Given the description of an element on the screen output the (x, y) to click on. 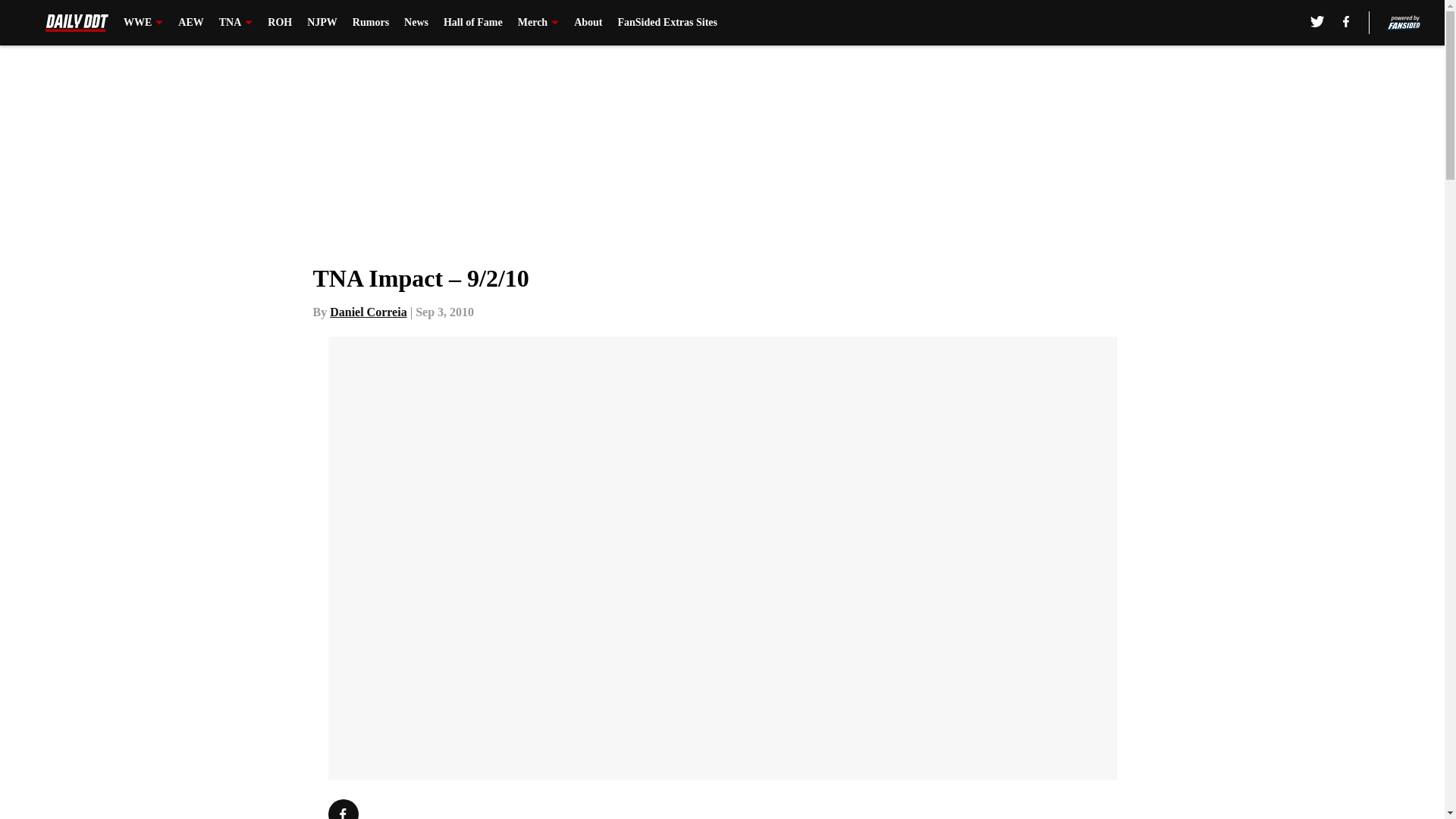
FanSided Extras Sites (666, 22)
Daniel Correia (368, 311)
News (416, 22)
Rumors (370, 22)
About (587, 22)
ROH (279, 22)
NJPW (322, 22)
Hall of Fame (473, 22)
AEW (190, 22)
